Given the description of an element on the screen output the (x, y) to click on. 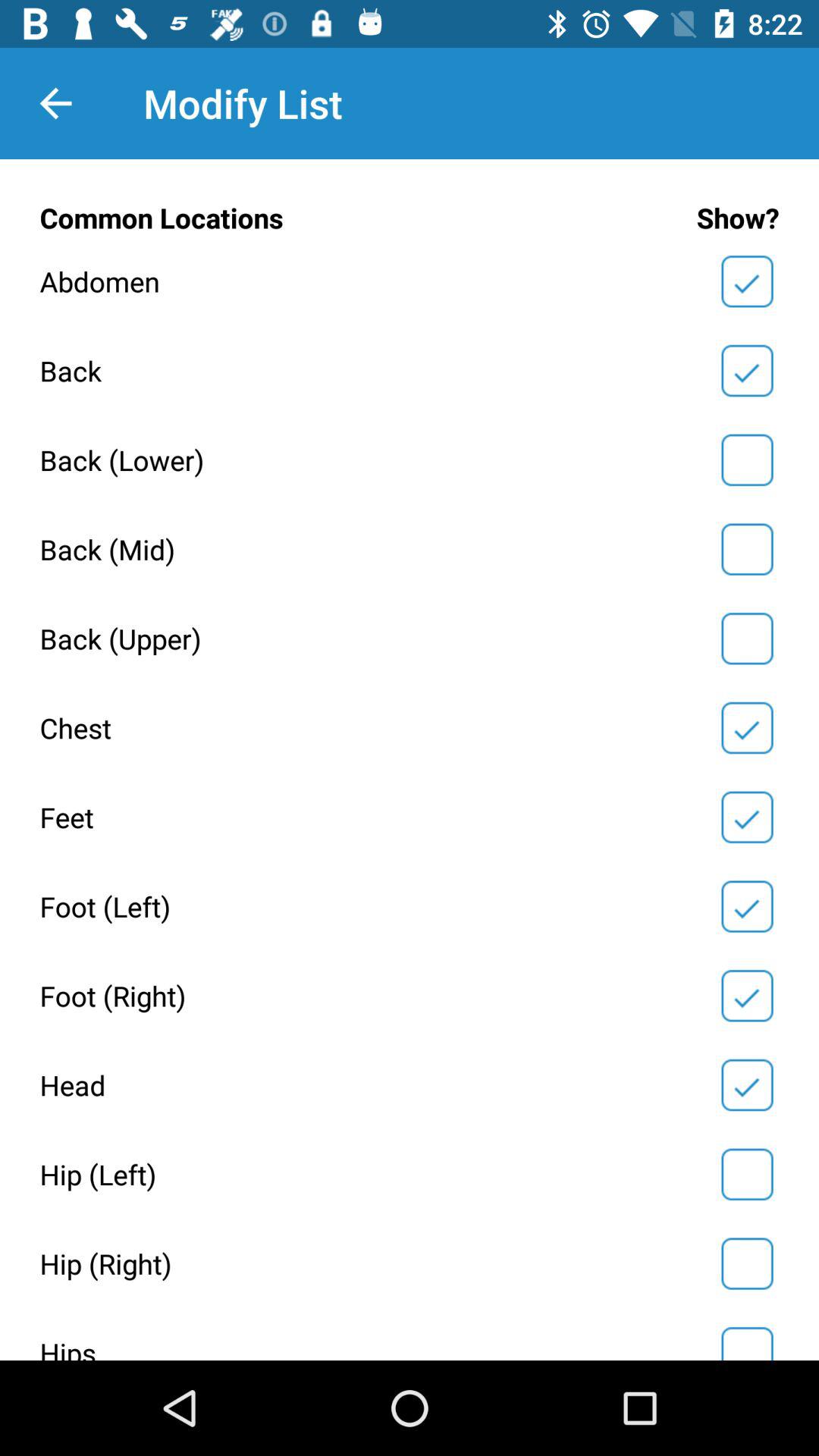
show left hip (747, 1174)
